Given the description of an element on the screen output the (x, y) to click on. 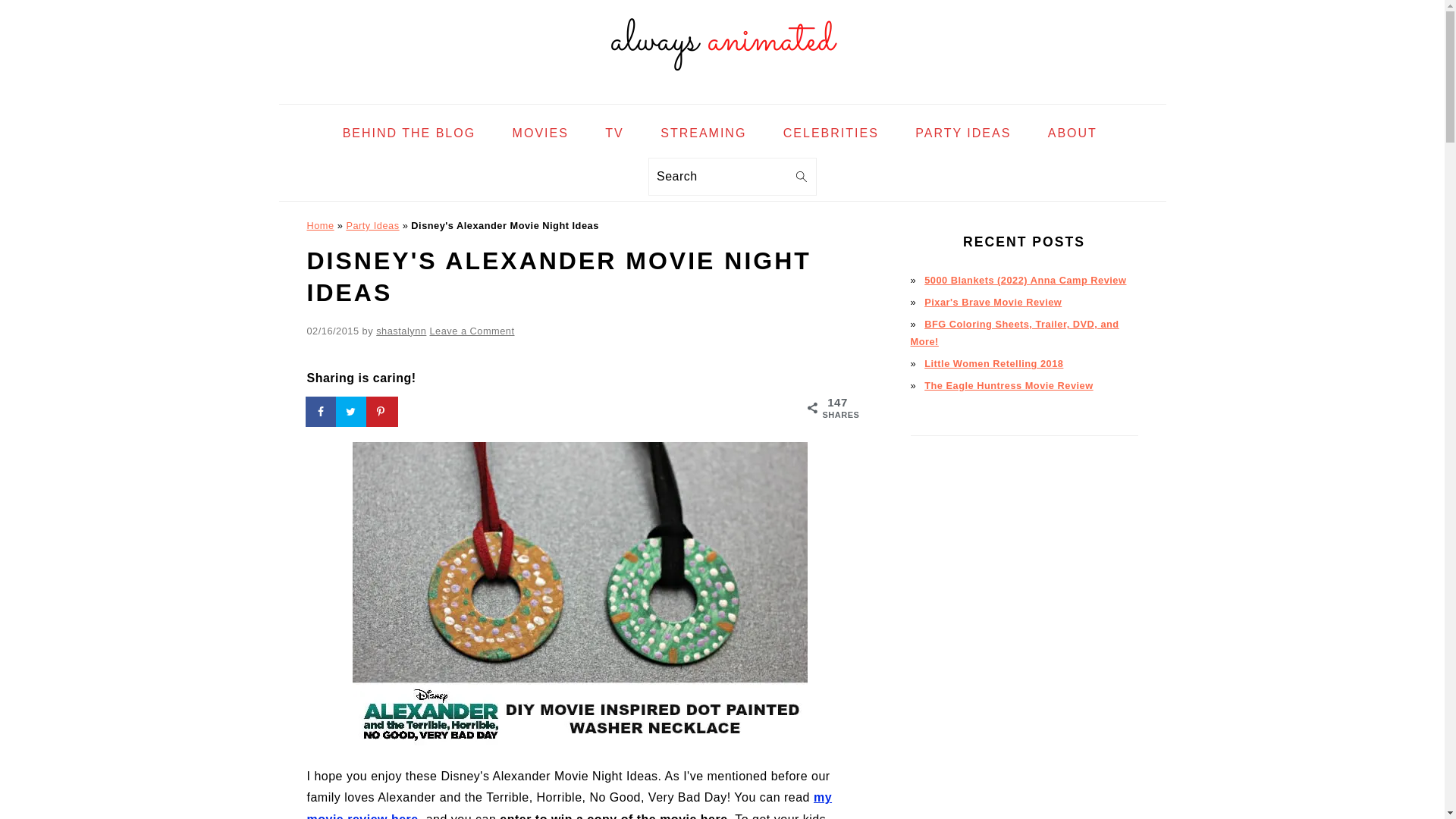
Always Animated (721, 91)
my movie review here (568, 805)
CELEBRITIES (831, 133)
Share on Facebook (320, 411)
ABOUT (1072, 133)
MOVIES (540, 133)
PARTY IDEAS (962, 133)
Always Animated (721, 41)
Share on Twitter (351, 411)
shastalynn (400, 330)
Leave a Comment (471, 330)
Save to Pinterest (381, 411)
STREAMING (703, 133)
